Given the description of an element on the screen output the (x, y) to click on. 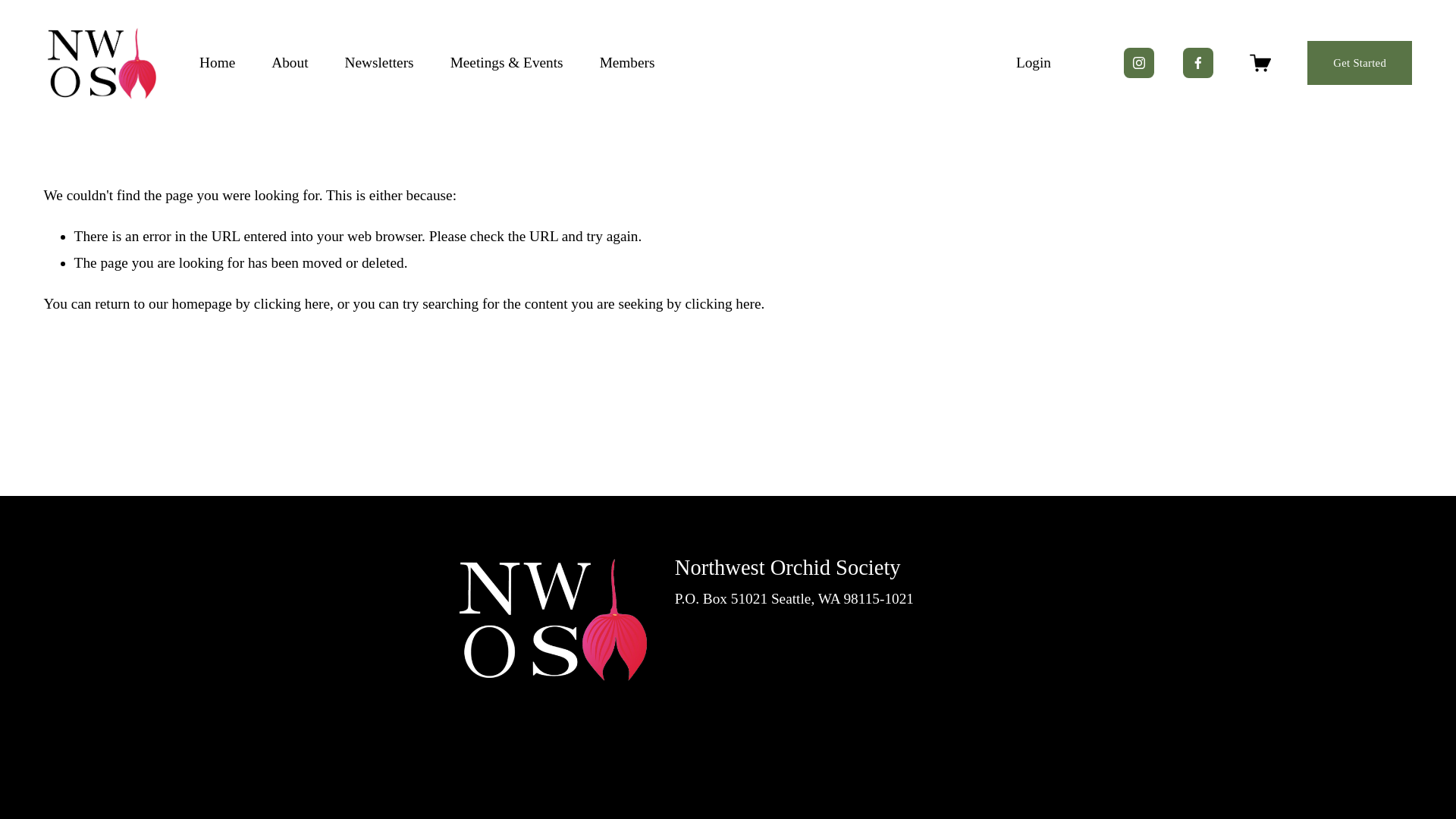
Members (627, 62)
Newsletters (379, 62)
Get Started (1359, 62)
Login (1033, 62)
Home (216, 62)
About (288, 62)
